Given the description of an element on the screen output the (x, y) to click on. 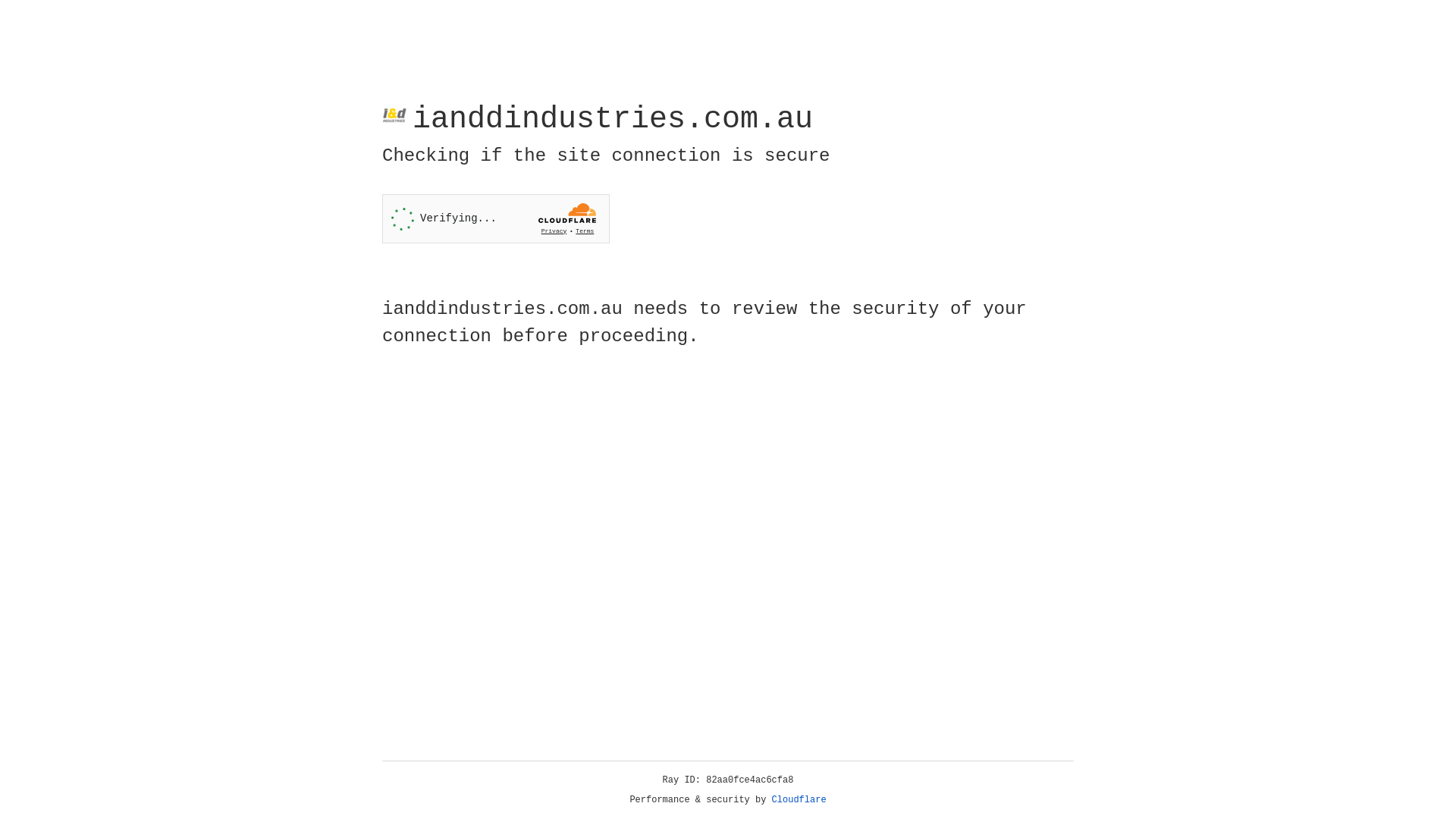
Cloudflare Element type: text (798, 799)
Widget containing a Cloudflare security challenge Element type: hover (495, 218)
